Given the description of an element on the screen output the (x, y) to click on. 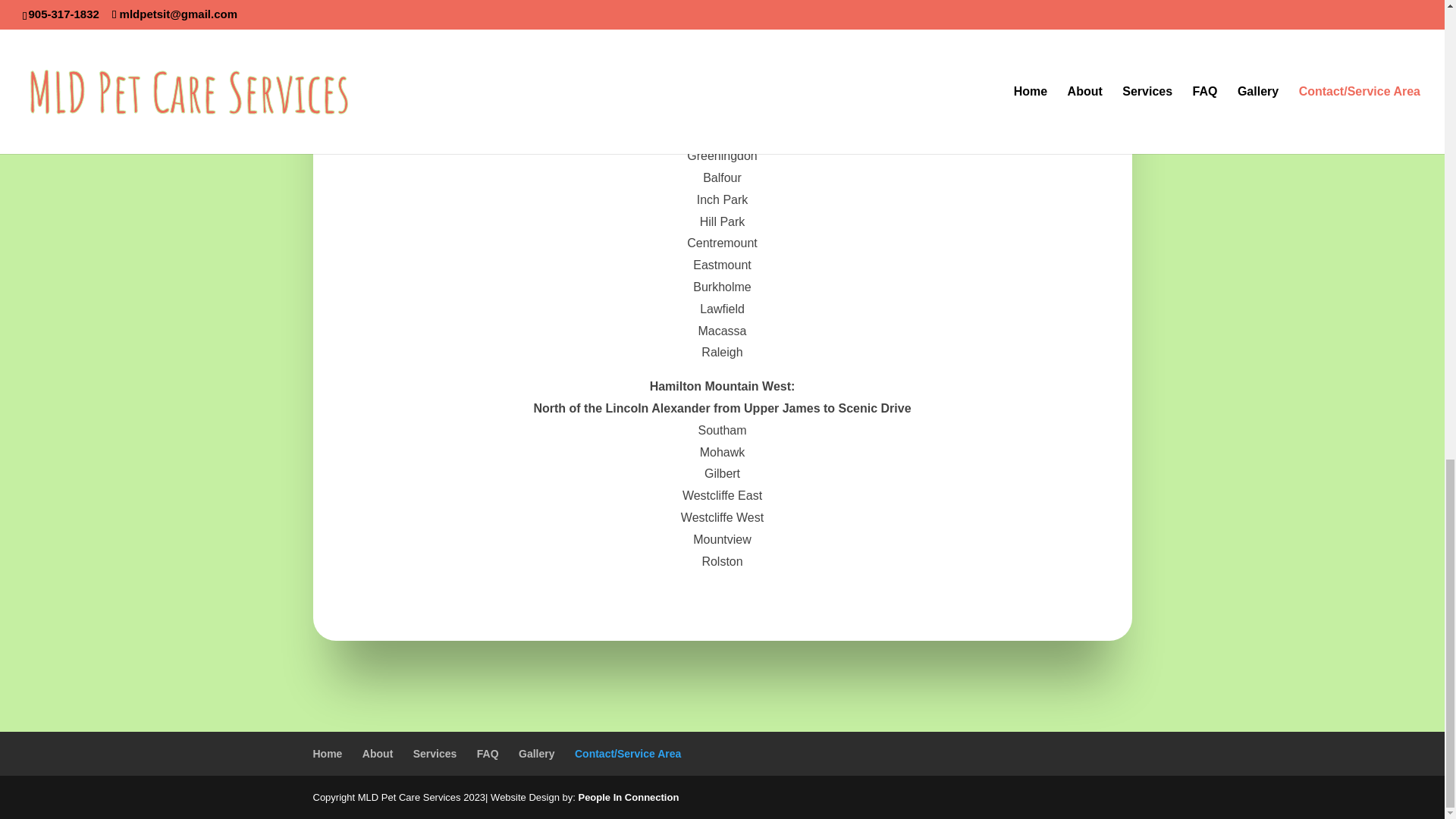
About (377, 753)
FAQ (488, 753)
Gallery (536, 753)
People In Connection (628, 797)
Services (435, 753)
Home (327, 753)
